Given the description of an element on the screen output the (x, y) to click on. 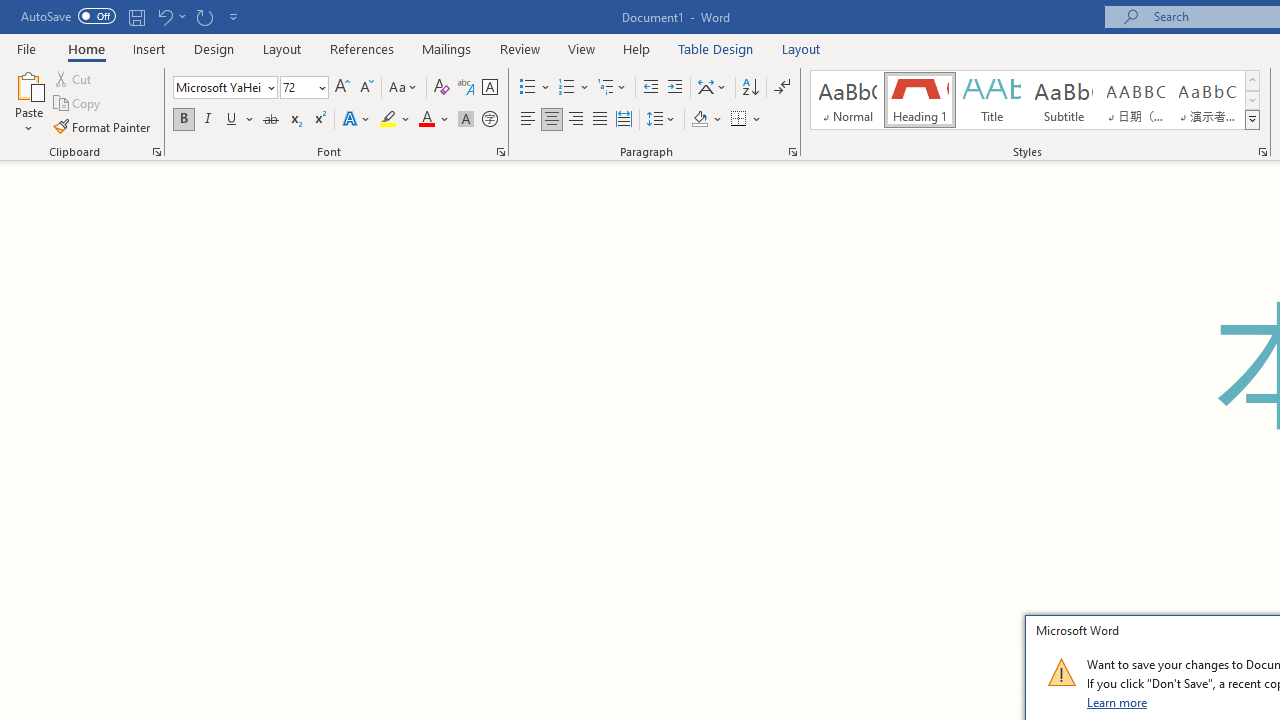
Title (991, 100)
Heading 1 (920, 100)
